Given the description of an element on the screen output the (x, y) to click on. 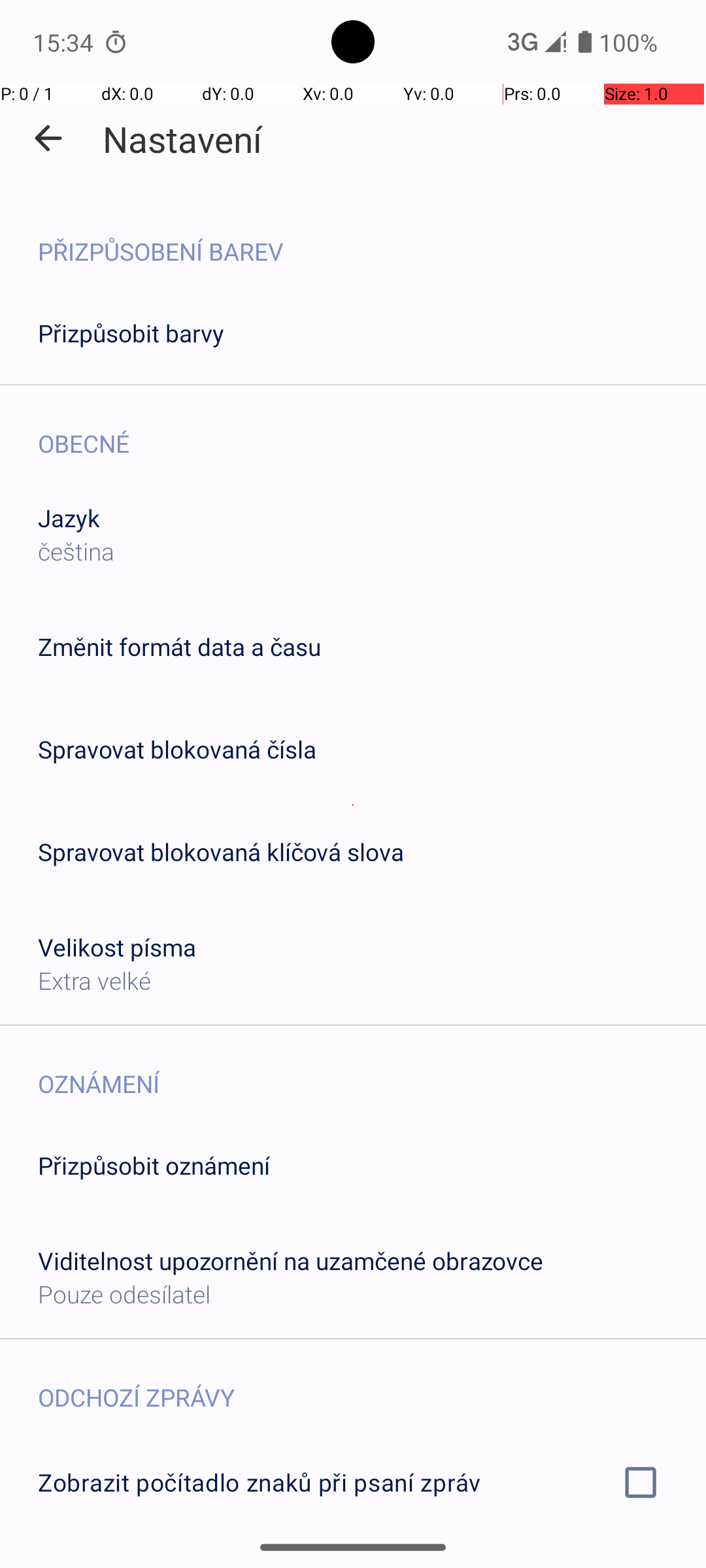
PŘIZPŮSOBENÍ BAREV Element type: android.widget.TextView (371, 237)
OBECNÉ Element type: android.widget.TextView (371, 429)
OZNÁMENÍ Element type: android.widget.TextView (371, 1069)
ODCHOZÍ ZPRÁVY Element type: android.widget.TextView (371, 1383)
Přizpůsobit barvy Element type: android.widget.TextView (130, 332)
Jazyk Element type: android.widget.TextView (68, 517)
čeština Element type: android.widget.TextView (75, 550)
Změnit formát data a času Element type: android.widget.TextView (178, 646)
Spravovat blokovaná čísla Element type: android.widget.TextView (176, 748)
Spravovat blokovaná klíčová slova Element type: android.widget.TextView (220, 851)
Velikost písma Element type: android.widget.TextView (116, 946)
Extra velké Element type: android.widget.TextView (94, 979)
Přizpůsobit oznámení Element type: android.widget.TextView (153, 1164)
Viditelnost upozornění na uzamčené obrazovce Element type: android.widget.TextView (290, 1260)
Pouze odesílatel Element type: android.widget.TextView (124, 1293)
Zobrazit počítadlo znaků při psaní zpráv Element type: android.widget.CheckBox (352, 1482)
Odstranit diakritiku při odesílání zprávy Element type: android.widget.CheckBox (352, 1559)
